Given the description of an element on the screen output the (x, y) to click on. 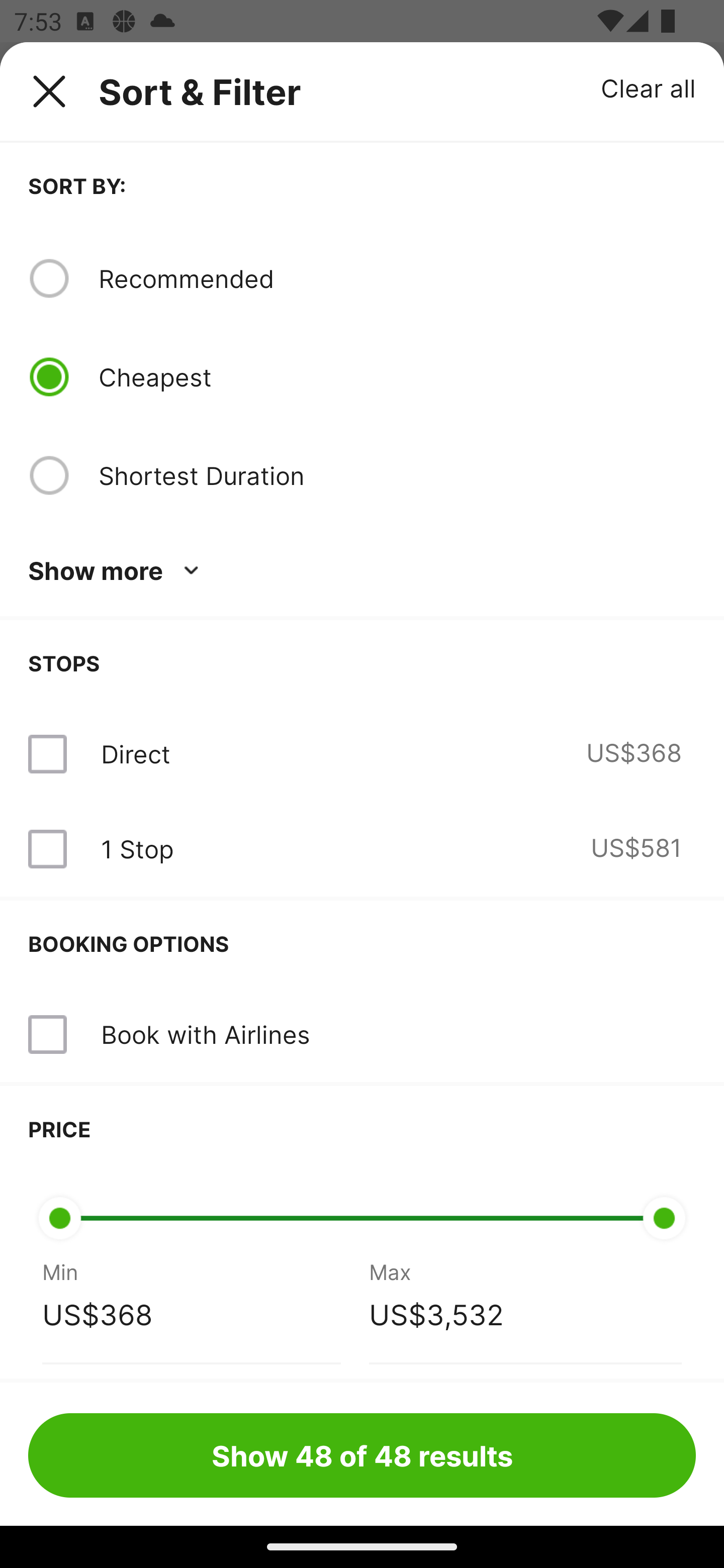
Clear all (648, 87)
Recommended  (396, 278)
Cheapest (396, 377)
Shortest Duration (396, 474)
Show more (116, 570)
Direct US$368 (362, 754)
Direct (135, 753)
1 Stop US$581 (362, 848)
1 Stop (136, 849)
Book with Airlines (362, 1033)
Book with Airlines (204, 1034)
Show 48 of 48 results (361, 1454)
